Given the description of an element on the screen output the (x, y) to click on. 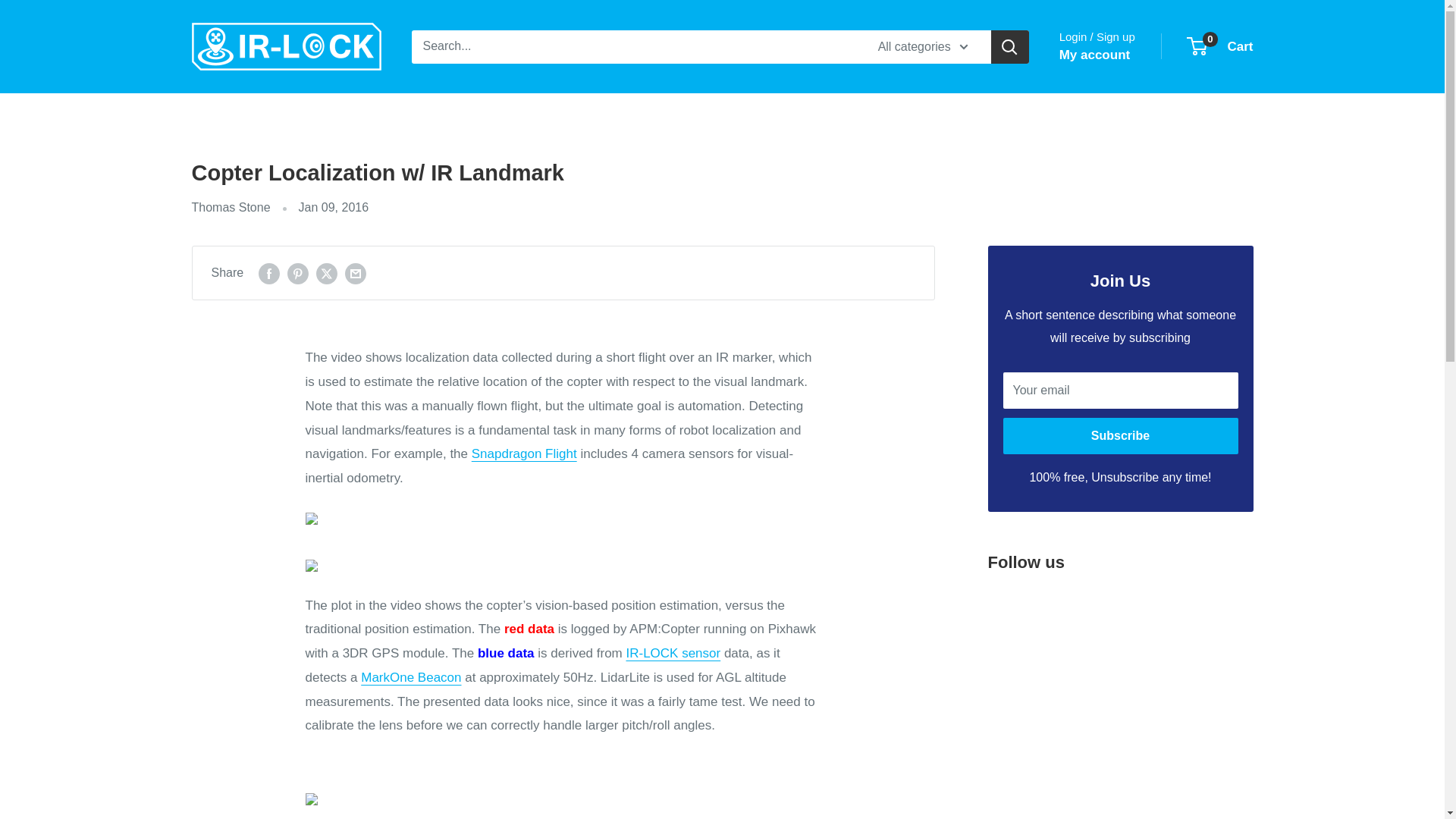
IR-LOCK (285, 46)
MarkOne Beacon (411, 677)
My account (1095, 55)
Snapdragon Flight (1220, 46)
IR-LOCK sensor (523, 453)
